Given the description of an element on the screen output the (x, y) to click on. 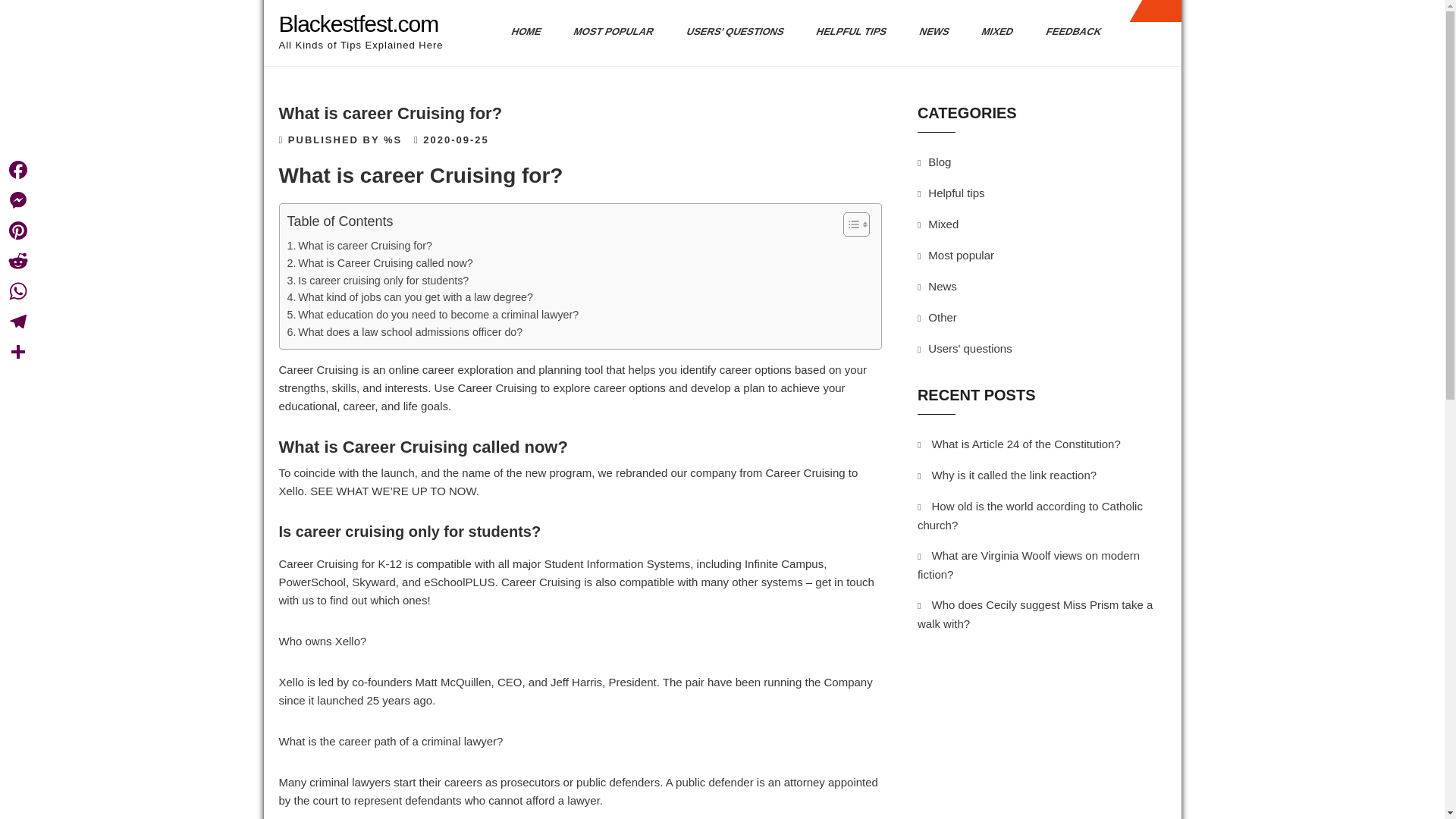
What is Article 24 of the Constitution? (1025, 443)
Is career cruising only for students? (377, 280)
MIXED (991, 31)
What is career Cruising for? (358, 245)
NEWS (928, 31)
How old is the world according to Catholic church? (1029, 515)
What education do you need to become a criminal lawyer? (432, 314)
What kind of jobs can you get with a law degree? (409, 297)
Blog (939, 161)
WhatsApp (17, 291)
